Given the description of an element on the screen output the (x, y) to click on. 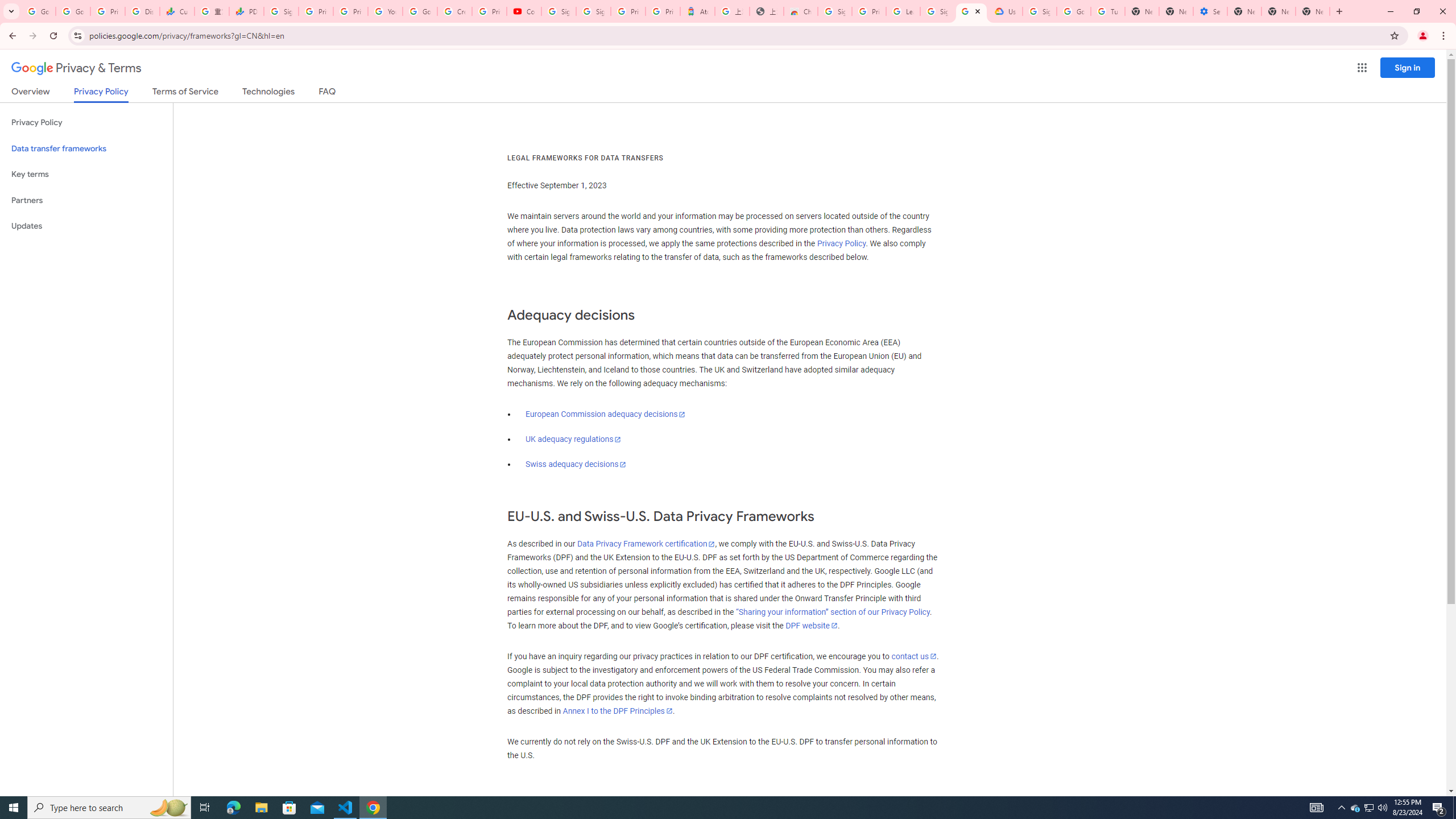
Annex I to the DPF Principles (617, 710)
contact us (913, 656)
PDD Holdings Inc - ADR (PDD) Price & News - Google Finance (246, 11)
Sign in - Google Accounts (1039, 11)
Sign in - Google Accounts (592, 11)
Settings - Addresses and more (1209, 11)
